Given the description of an element on the screen output the (x, y) to click on. 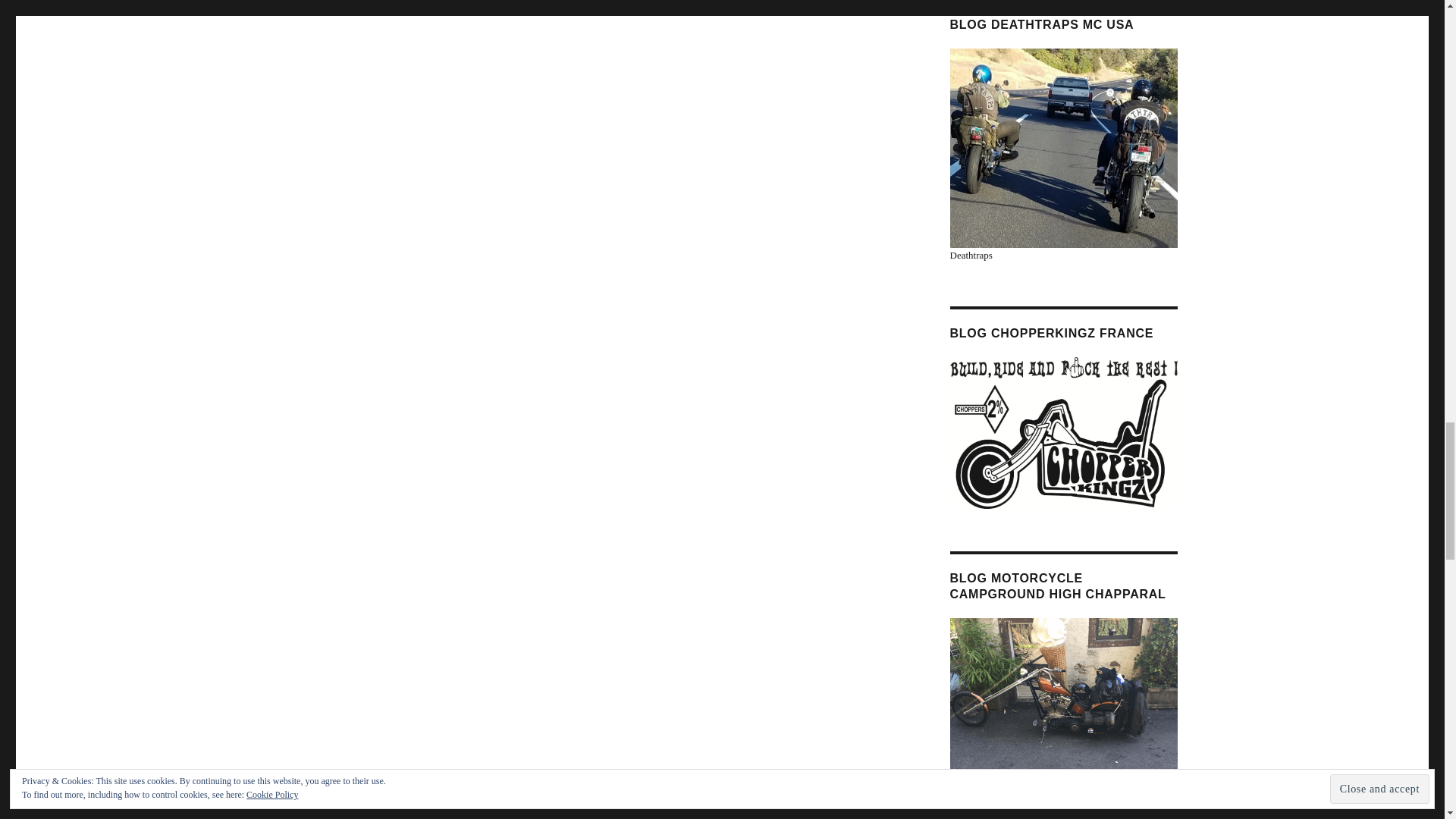
blog deathtraps mc usa (1062, 147)
blog chopperkingz france (1062, 431)
Blog Motorcycle Campground High Chapparal (1062, 702)
